Given the description of an element on the screen output the (x, y) to click on. 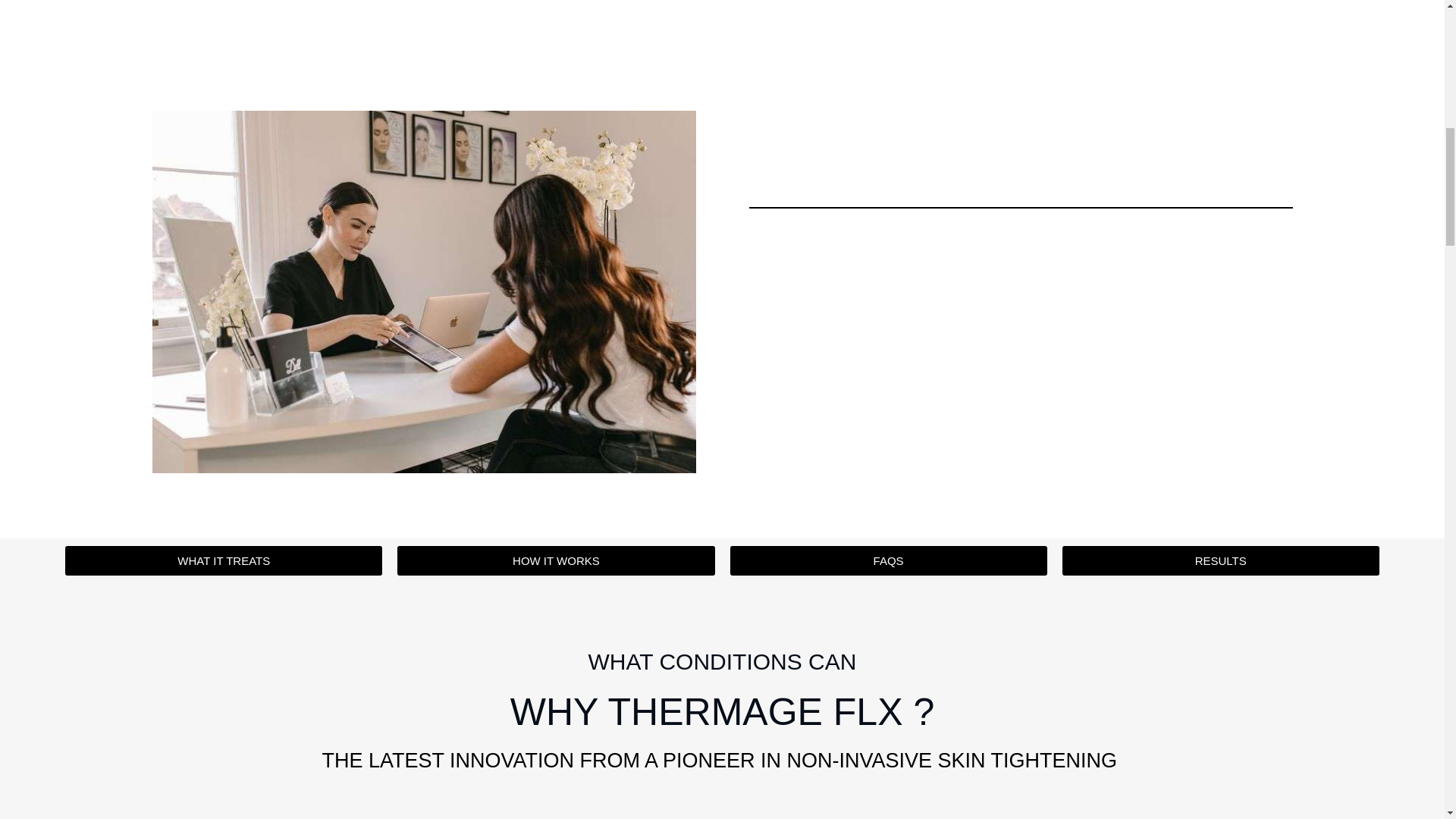
WHAT IT TREATS (223, 560)
HOW IT WORKS (555, 560)
RESULTS (1220, 560)
FAQS (887, 560)
